Given the description of an element on the screen output the (x, y) to click on. 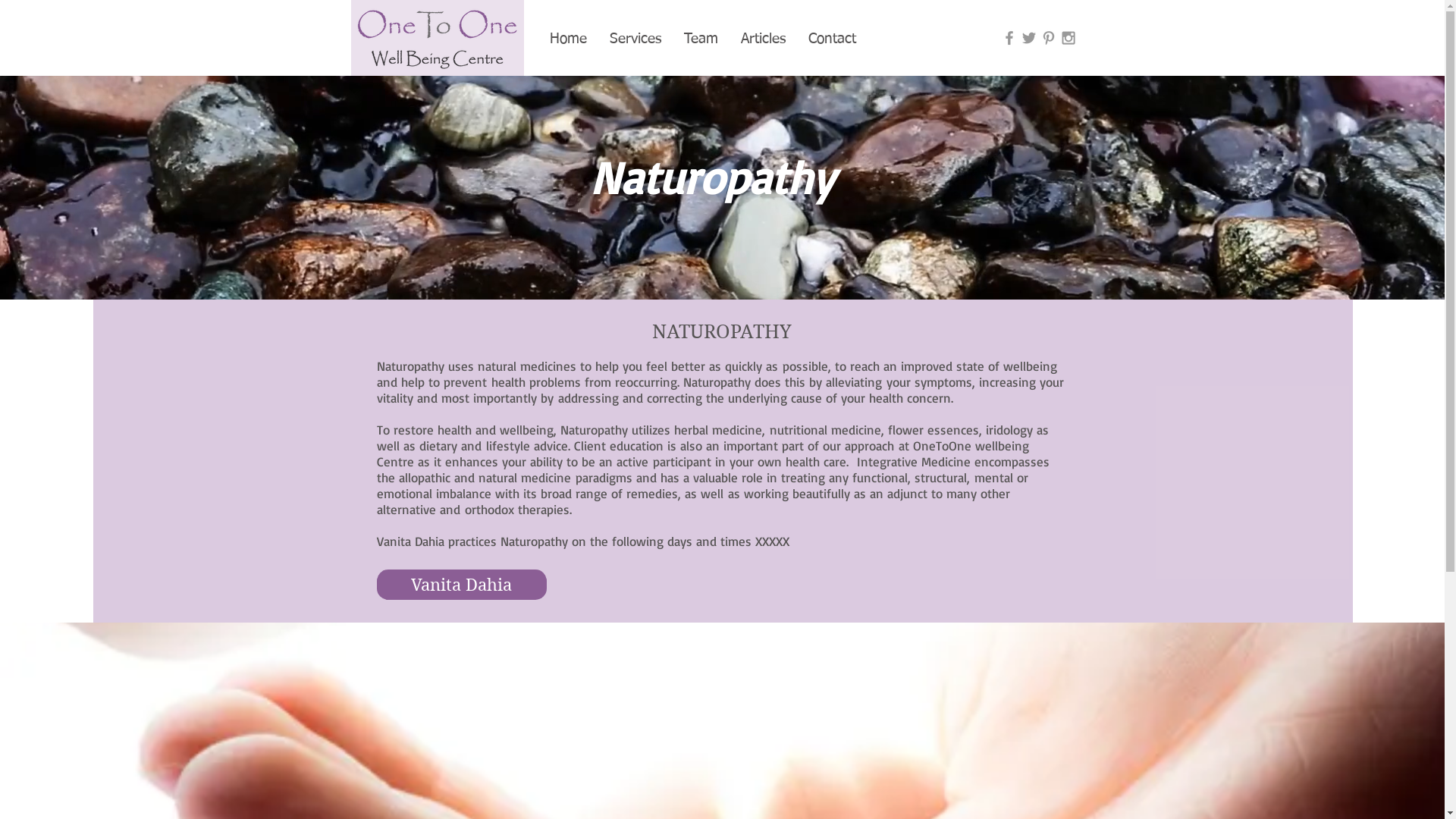
Contact Element type: text (831, 39)
Articles Element type: text (763, 39)
Home Element type: text (568, 39)
Vanita Dahia Element type: text (461, 584)
